Given the description of an element on the screen output the (x, y) to click on. 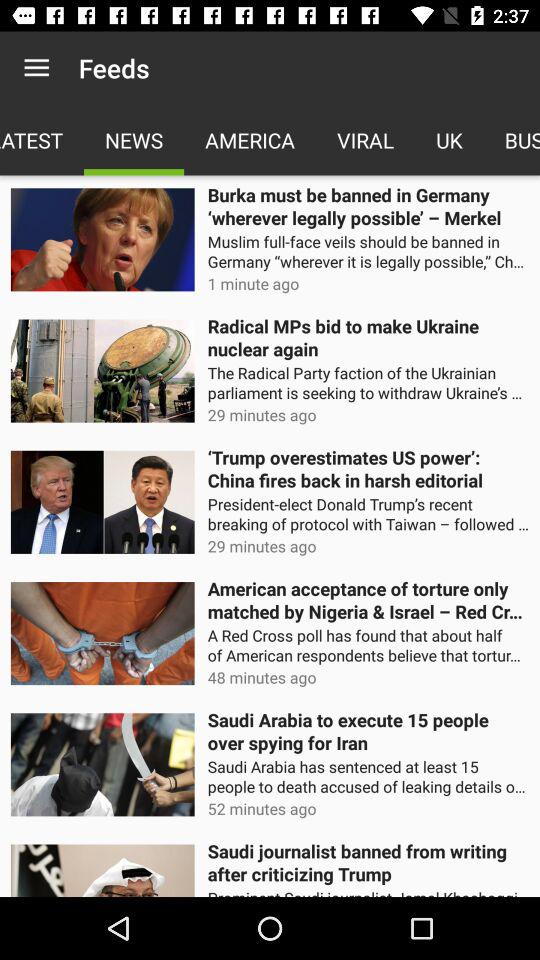
turn on icon to the left of feeds app (36, 68)
